Given the description of an element on the screen output the (x, y) to click on. 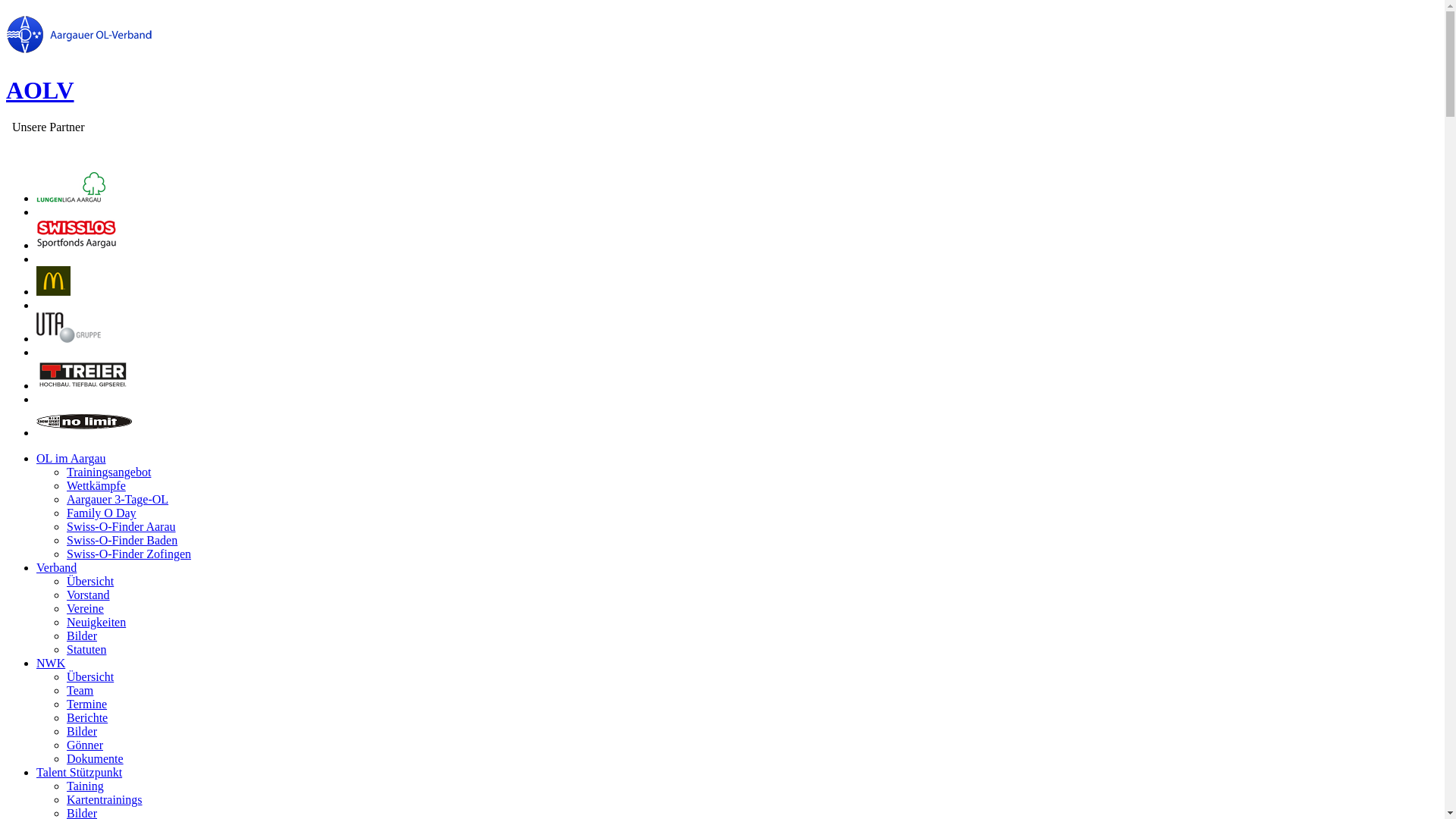
Bilder Element type: text (81, 730)
Taining Element type: text (84, 785)
Swiss-O-Finder Aarau Element type: text (120, 526)
Berichte Element type: text (86, 717)
Swiss-O-Finder Baden Element type: text (121, 539)
Family O Day Element type: text (101, 512)
Bilder Element type: text (81, 635)
AOLV Element type: text (40, 89)
Vorstand Element type: text (87, 594)
Statuten Element type: text (86, 649)
Neuigkeiten Element type: text (95, 621)
Team Element type: text (79, 690)
Verband Element type: text (56, 567)
Swiss-O-Finder Zofingen Element type: text (128, 553)
OL im Aargau Element type: text (71, 457)
Dokumente Element type: text (94, 758)
Termine Element type: text (86, 703)
Kartentrainings Element type: text (104, 799)
Startseite Element type: hover (79, 45)
Trainingsangebot Element type: text (108, 471)
Vereine Element type: text (84, 608)
Aargauer 3-Tage-OL Element type: text (117, 498)
NWK Element type: text (50, 662)
